Given the description of an element on the screen output the (x, y) to click on. 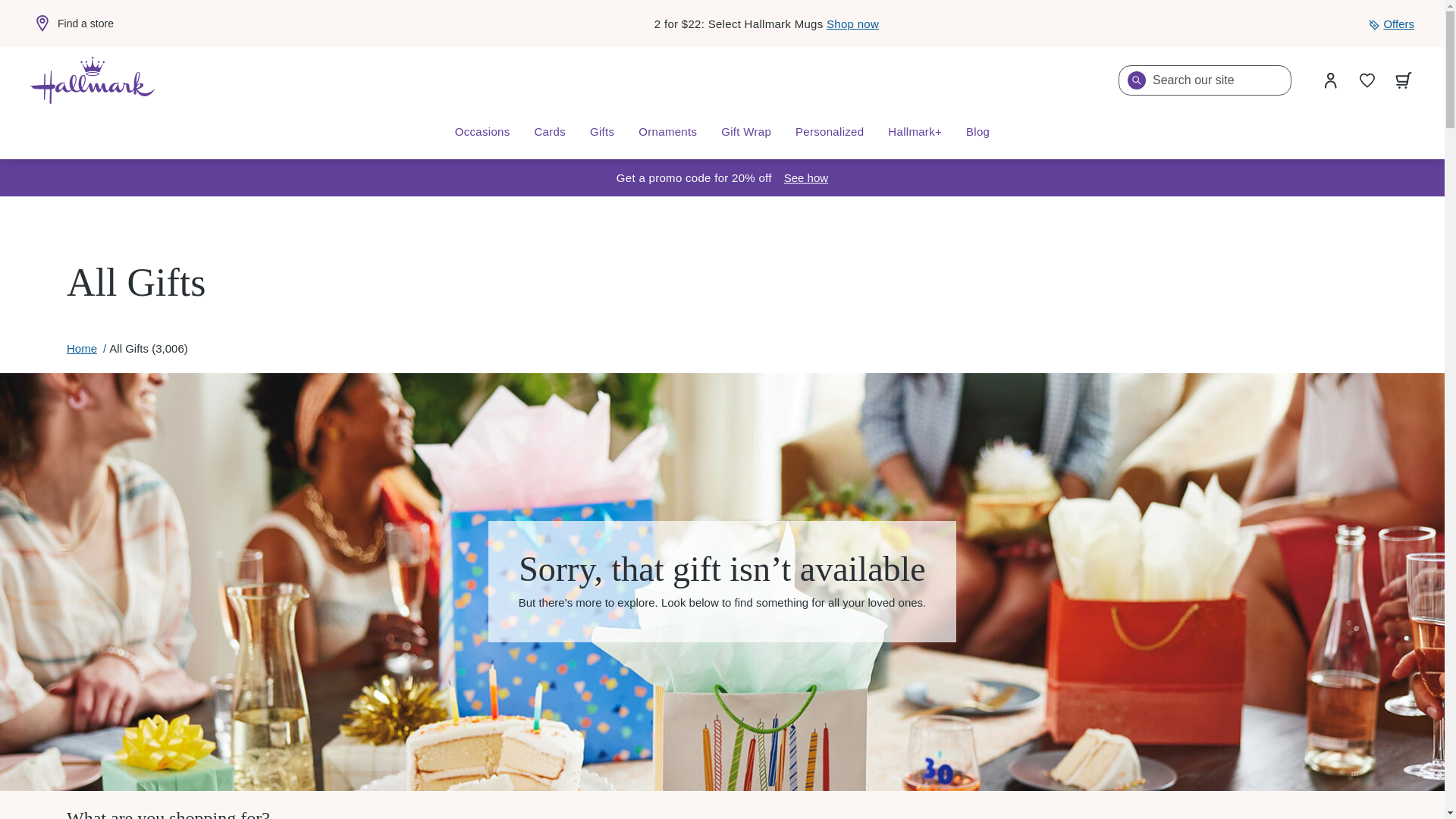
Offers (1390, 23)
Home page (92, 80)
Open shipping dates modal (806, 177)
Shop now (853, 22)
Find a store (71, 23)
Wish List (1367, 80)
View your cart (1404, 80)
Search (1135, 80)
